Given the description of an element on the screen output the (x, y) to click on. 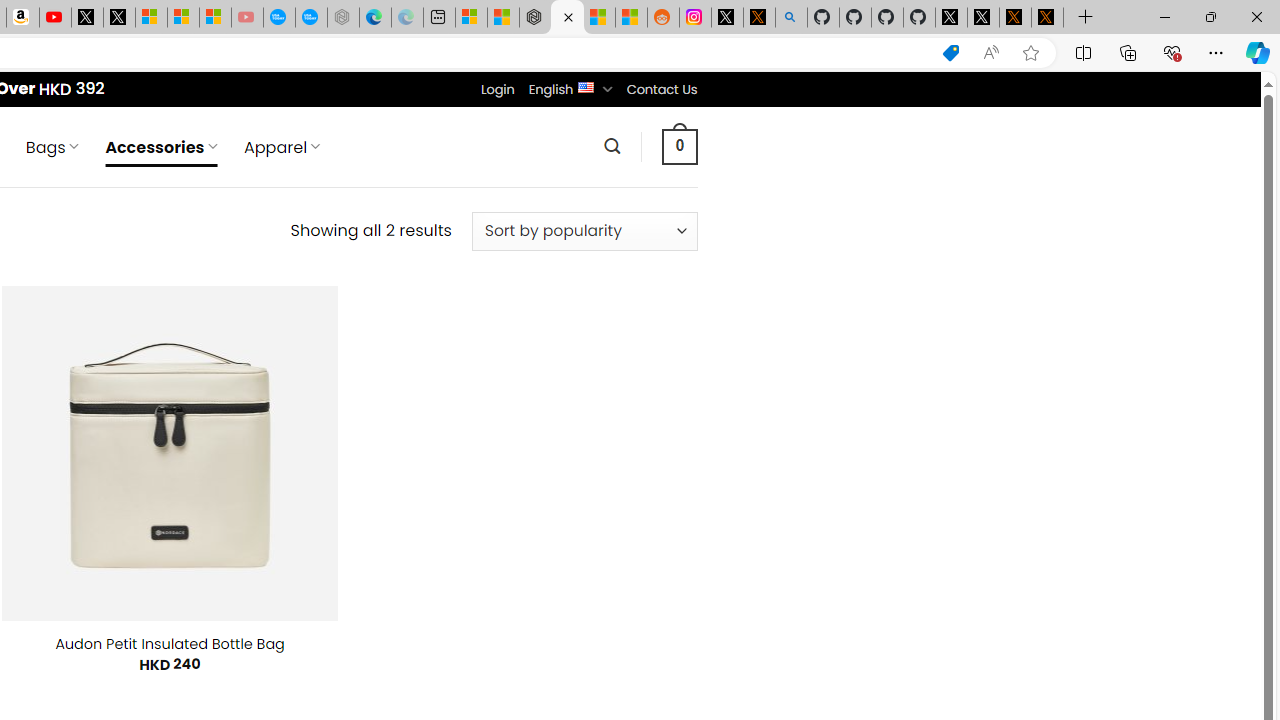
Nordace - Baby Gear (566, 17)
English (586, 86)
